Given the description of an element on the screen output the (x, y) to click on. 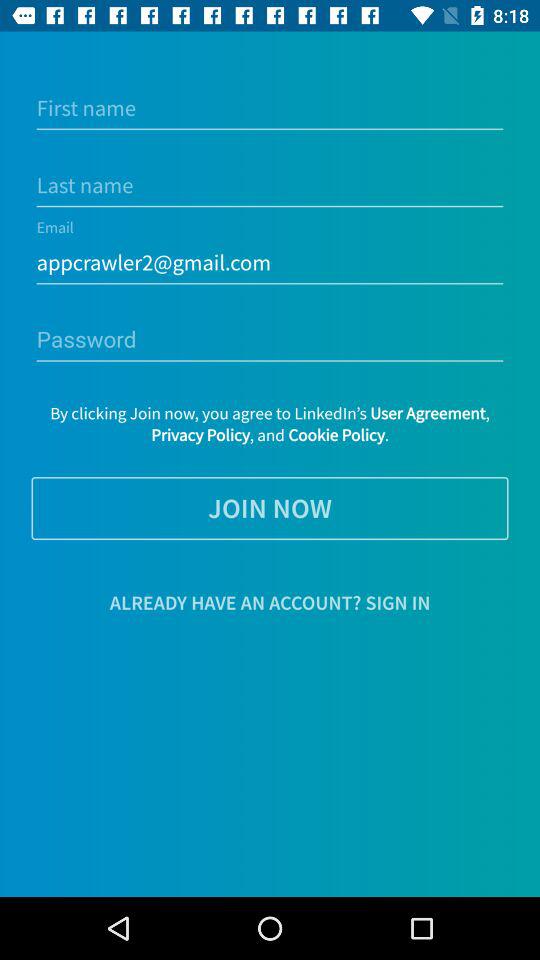
enter password (269, 340)
